Given the description of an element on the screen output the (x, y) to click on. 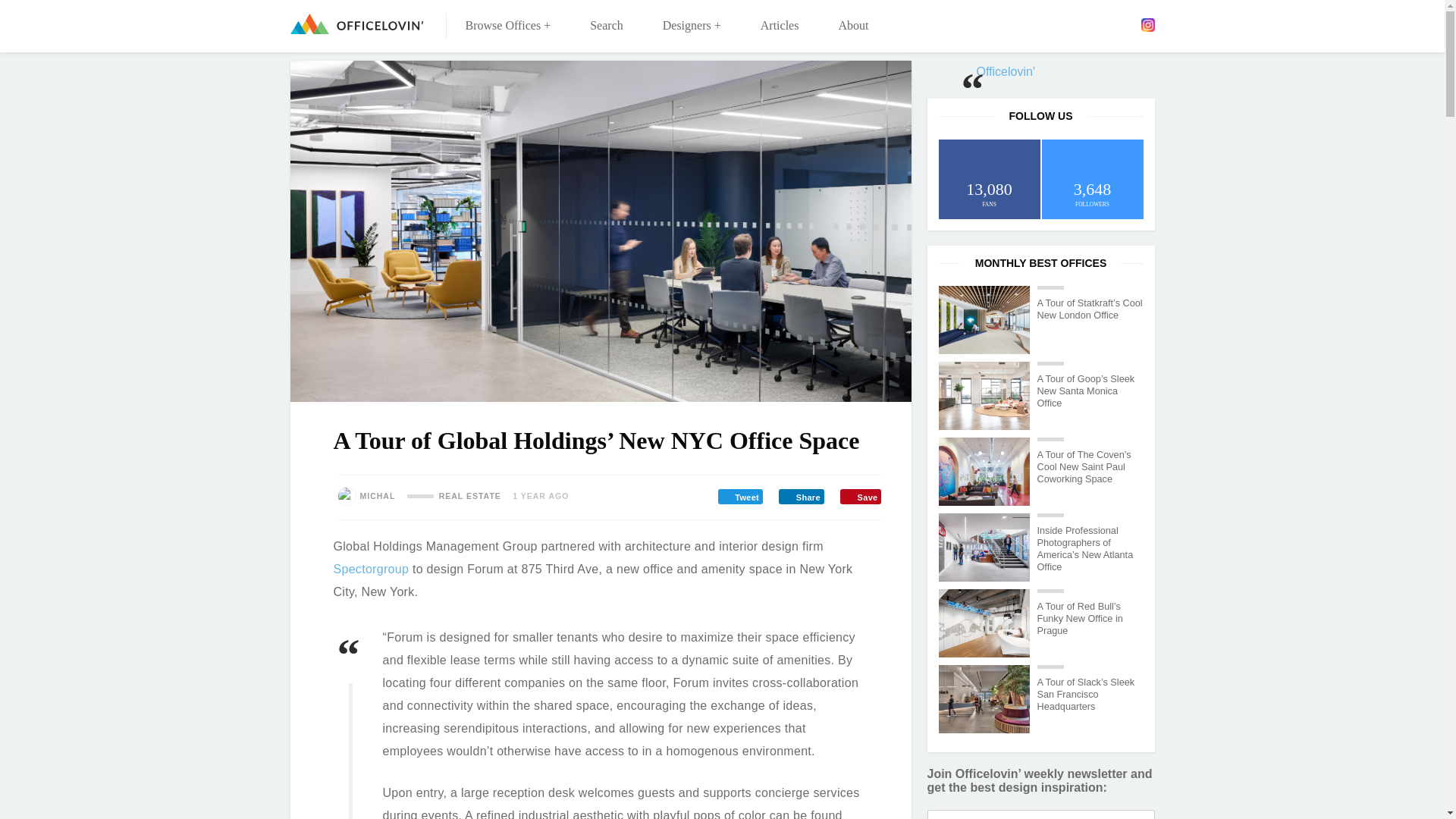
Officelovin on Facebook (1058, 24)
Officelovin on LinkedIn (1102, 24)
Search (606, 25)
Officelovin on Pinterest (1125, 24)
Share link on Pinterest (860, 496)
Officelovin on Twitter (1082, 24)
Share link on LinkedIn (801, 496)
Share link on Twitter (739, 496)
Officelovin on Instagram (1147, 24)
